Given the description of an element on the screen output the (x, y) to click on. 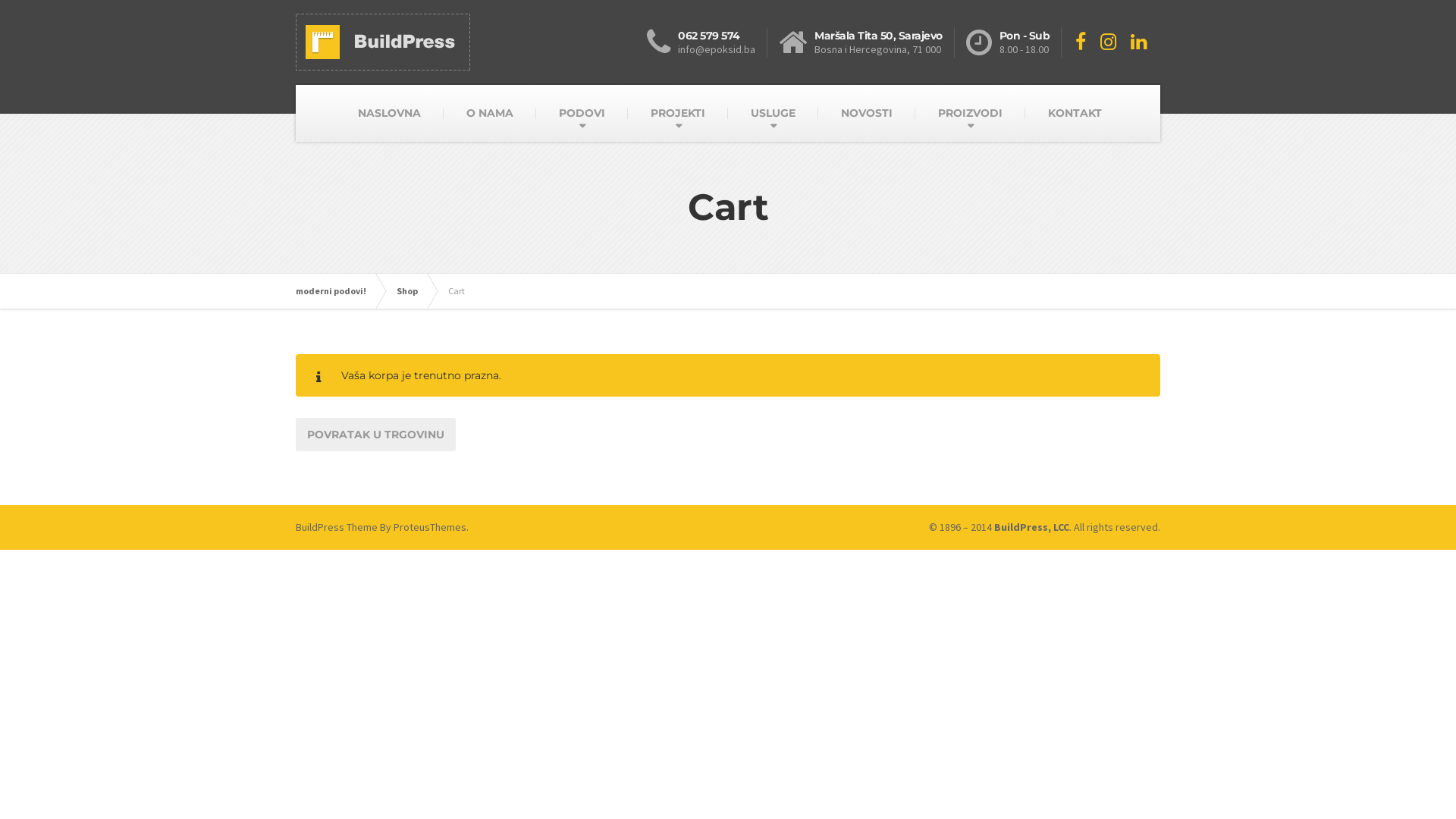
BuildPress Theme Element type: text (336, 526)
KONTAKT Element type: text (1074, 112)
PODOVI Element type: text (581, 112)
062 579 574
info@epoksid.ba Element type: text (706, 42)
NASLOVNA Element type: text (389, 112)
moderni podovi! Element type: text (338, 290)
POVRATAK U TRGOVINU Element type: text (375, 434)
Shop Element type: text (414, 290)
O NAMA Element type: text (488, 112)
USLUGE Element type: text (773, 112)
PROIZVODI Element type: text (969, 112)
NOVOSTI Element type: text (865, 112)
PROJEKTI Element type: text (677, 112)
